Given the description of an element on the screen output the (x, y) to click on. 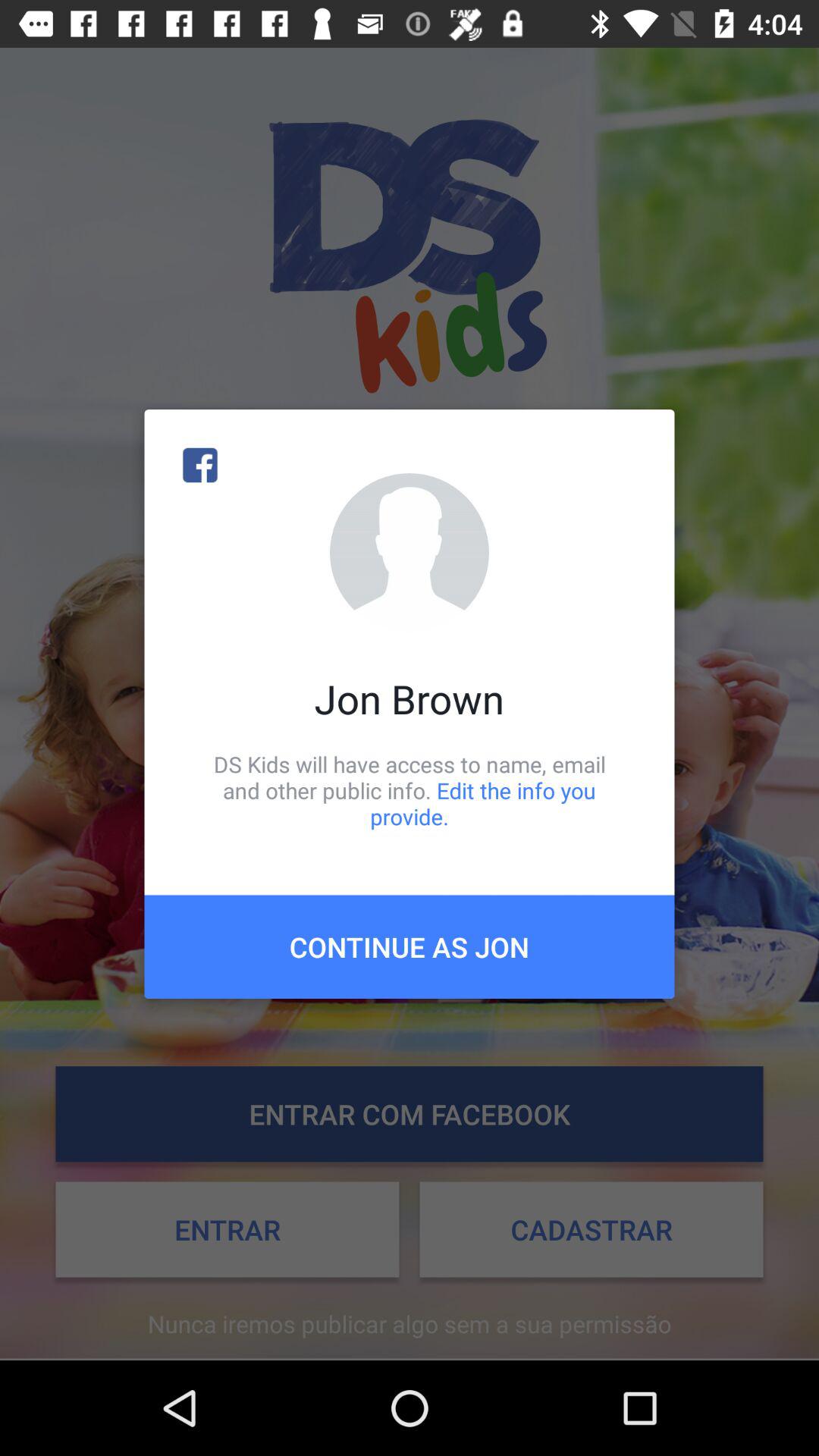
flip to continue as jon icon (409, 946)
